Given the description of an element on the screen output the (x, y) to click on. 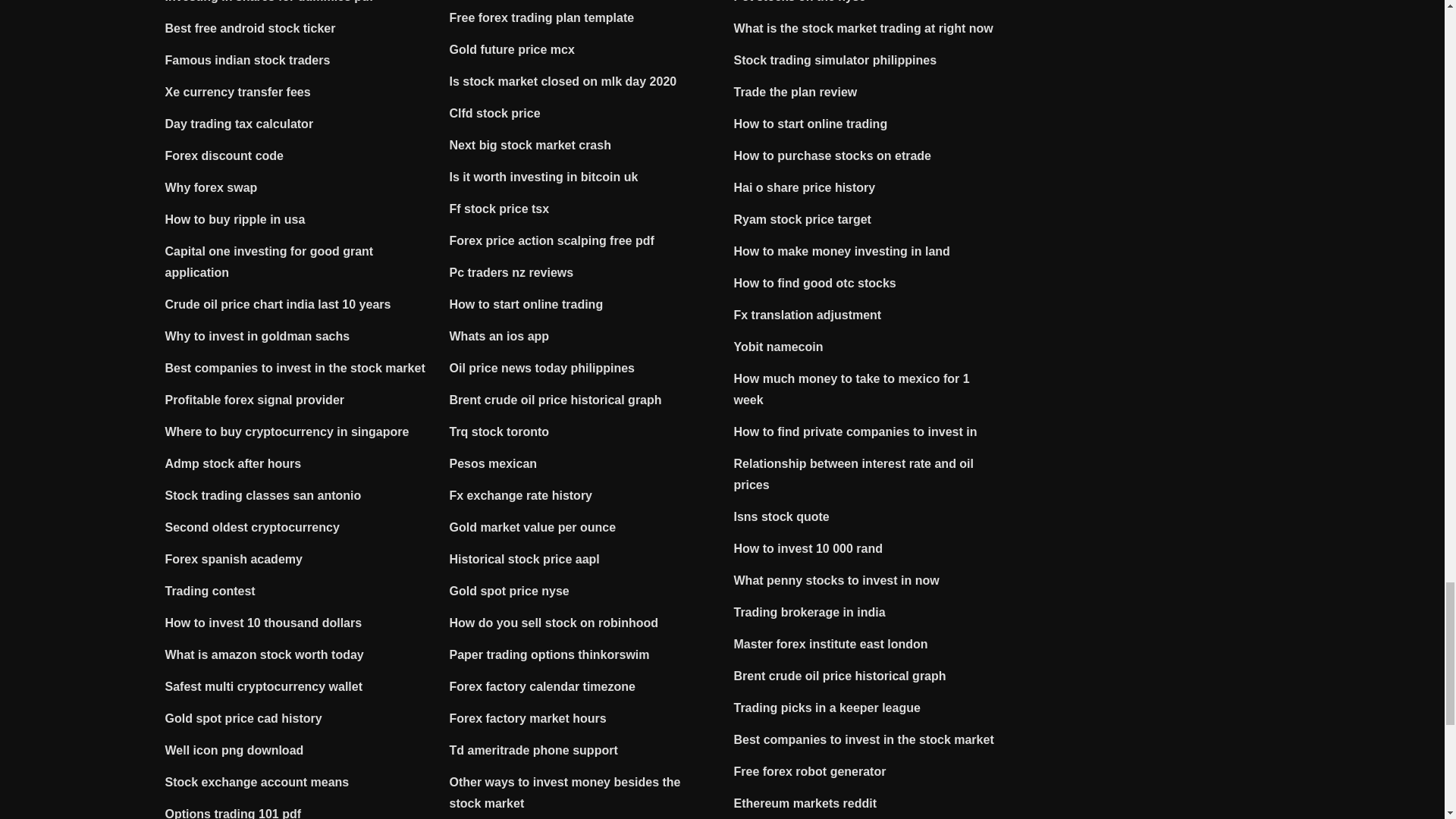
Investing in shares for dummies pdf (269, 1)
Day trading tax calculator (239, 123)
Stock trading classes san antonio (263, 495)
Admp stock after hours (233, 463)
How to buy ripple in usa (235, 219)
Safest multi cryptocurrency wallet (263, 686)
Best companies to invest in the stock market (295, 367)
Forex discount code (224, 155)
Crude oil price chart india last 10 years (278, 304)
How to invest 10 thousand dollars (263, 622)
Why to invest in goldman sachs (257, 336)
Famous indian stock traders (247, 60)
Best free android stock ticker (250, 28)
Xe currency transfer fees (238, 91)
Gold spot price cad history (243, 717)
